Given the description of an element on the screen output the (x, y) to click on. 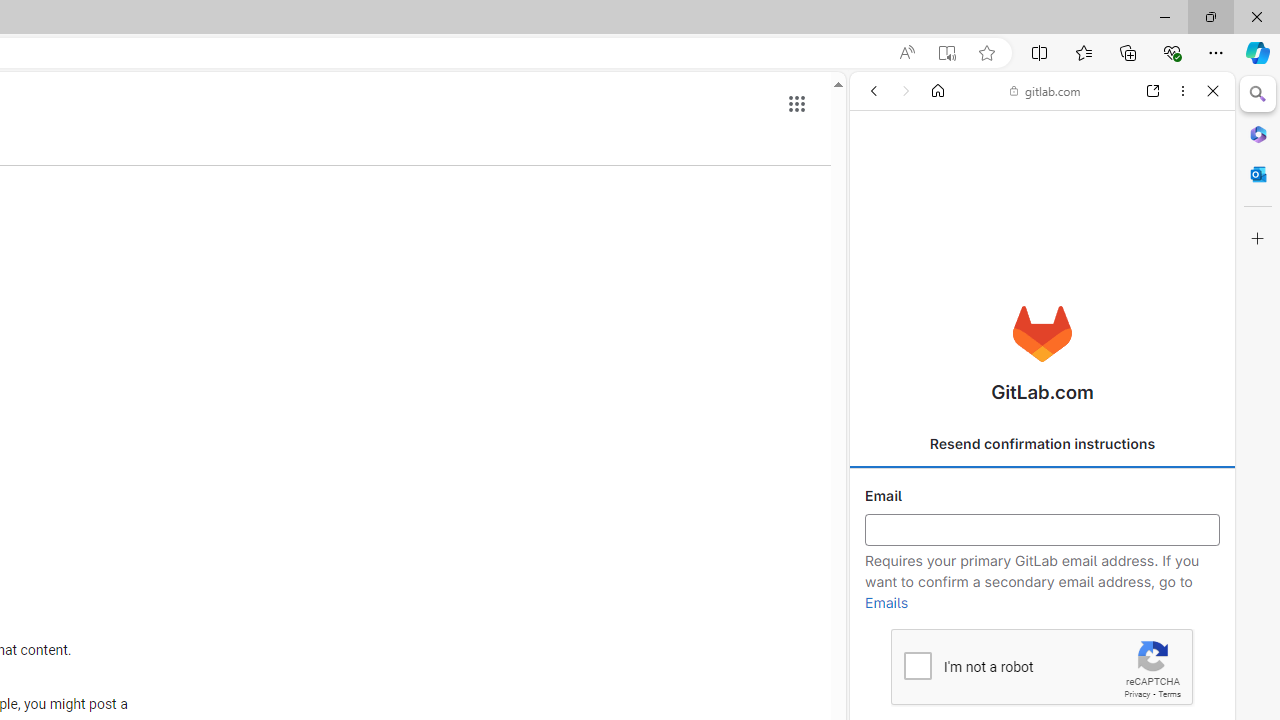
Login (1042, 494)
Emails (886, 603)
GitLab (1034, 288)
Search Filter, IMAGES (936, 228)
Resend confirmation instructions (1042, 443)
Dashboard (1042, 641)
Confirmation Page (1042, 684)
